Given the description of an element on the screen output the (x, y) to click on. 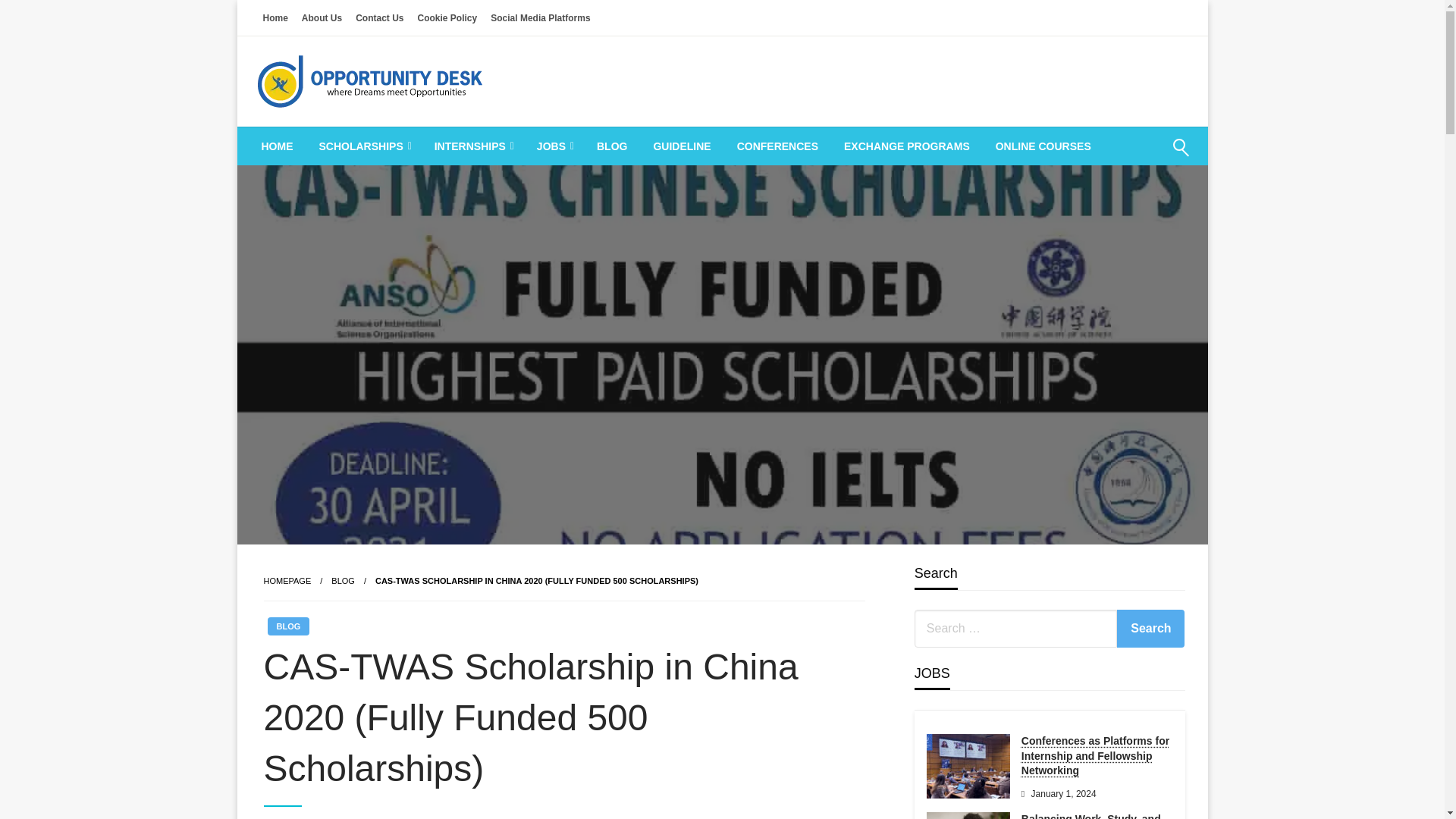
Home (275, 17)
HOMEPAGE (287, 580)
HOME (276, 146)
Contact Us (379, 17)
INTERNSHIPS (473, 146)
Social Media Platforms (539, 17)
Homepage (287, 580)
EXCHANGE PROGRAMS (906, 146)
SCHOLARSHIPS (363, 146)
Opportunity Desk (373, 145)
JOBS (553, 146)
Cookie Policy (447, 17)
Search (1150, 628)
BLOG (611, 146)
About Us (322, 17)
